Given the description of an element on the screen output the (x, y) to click on. 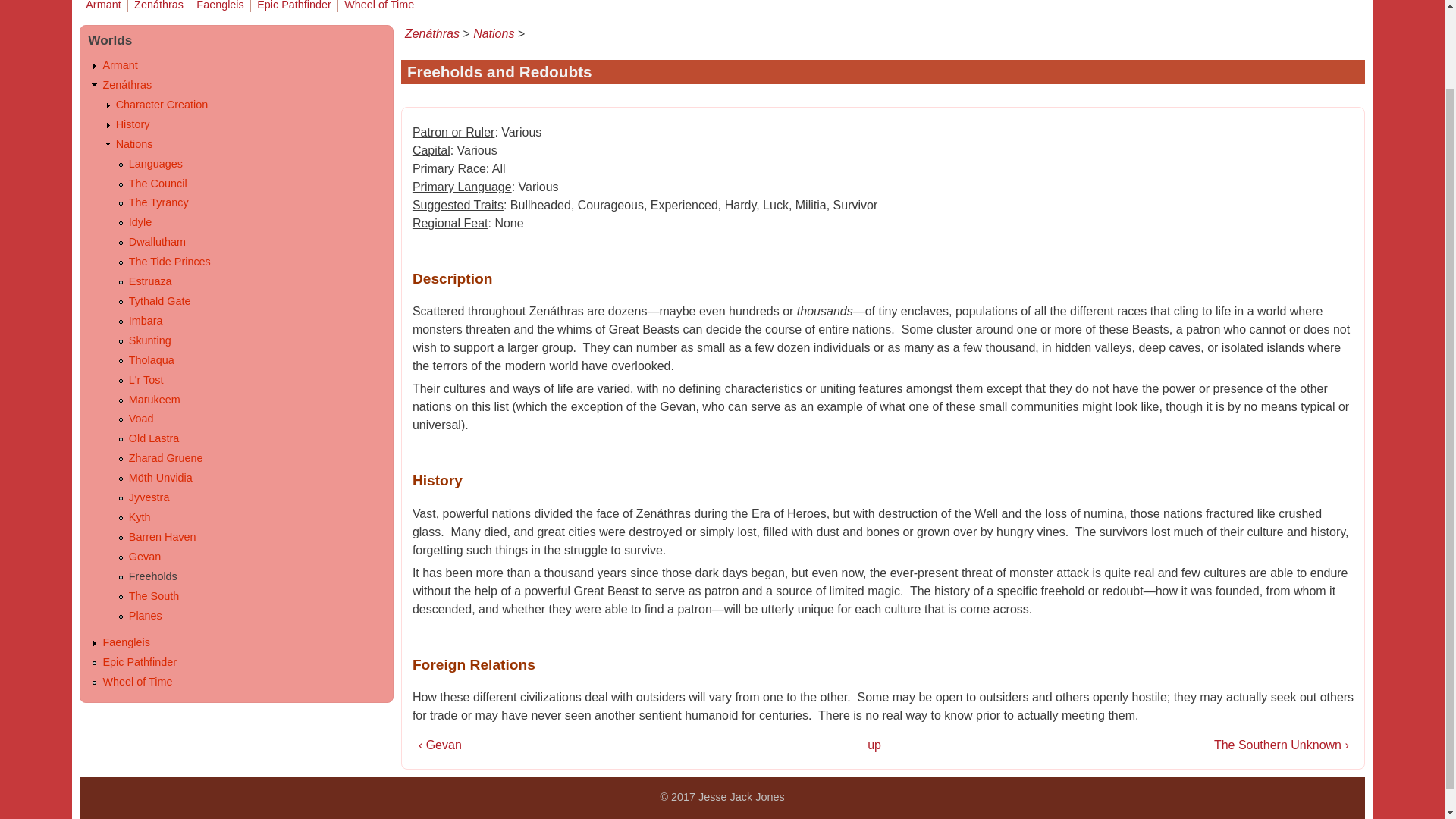
The Council (158, 183)
The Council of Wyrms (158, 183)
Wheel of Time (378, 6)
History (132, 123)
The Tyrancy of Geddephron (159, 202)
Go to next page (1153, 745)
L'r Tost (146, 379)
Voad (141, 418)
Go to previous page (614, 745)
Armant (118, 64)
